Given the description of an element on the screen output the (x, y) to click on. 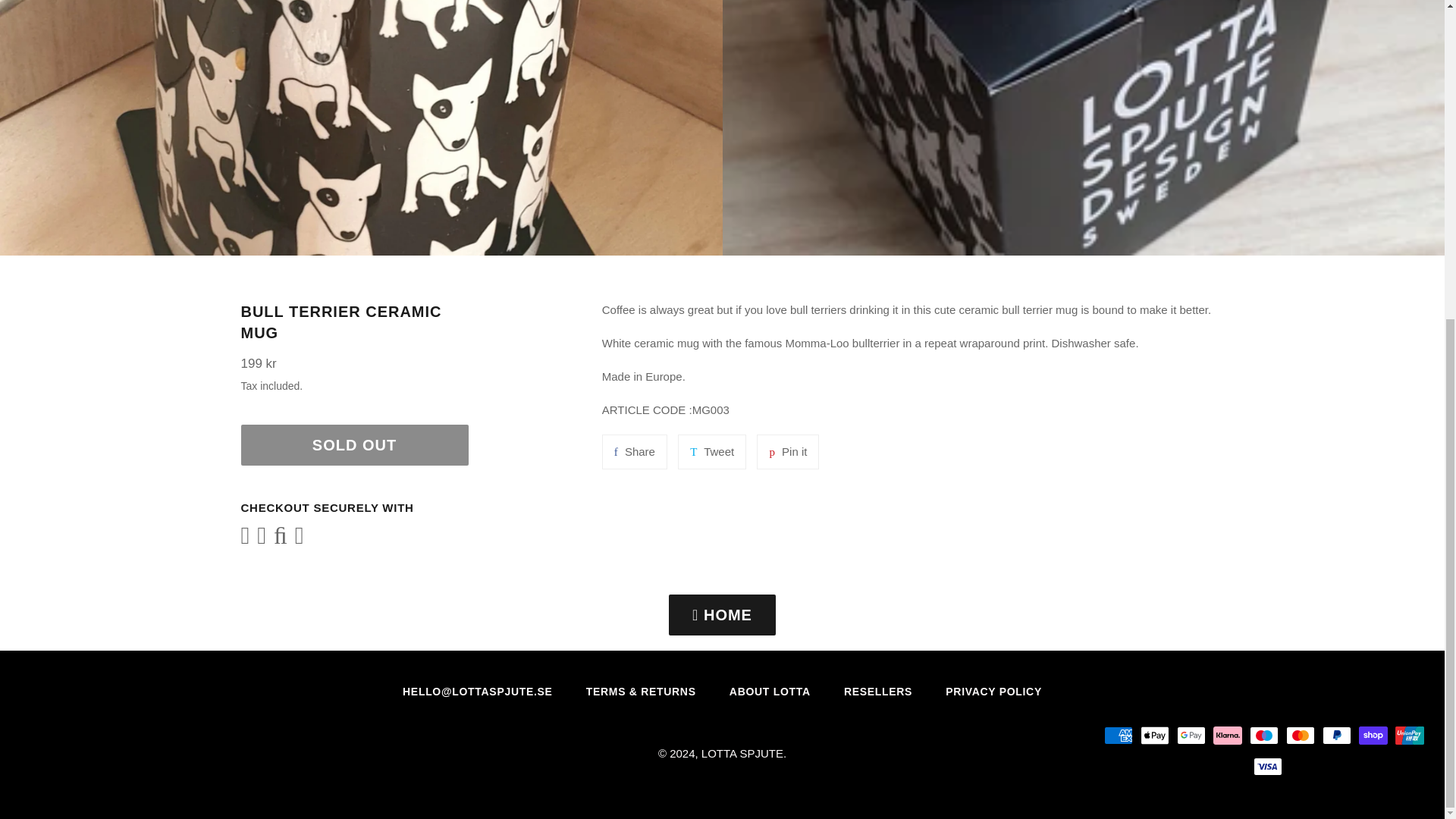
Mastercard (1299, 735)
Google Pay (1190, 735)
PRIVACY POLICY (993, 691)
ABOUT LOTTA (769, 691)
American Express (1117, 735)
Visa (1267, 766)
Pin on Pinterest (787, 451)
Shopify online store chat (1404, 265)
Maestro (1263, 735)
Apple Pay (1154, 735)
Union Pay (1408, 735)
Share on Facebook (634, 451)
Shop Pay (1372, 735)
